Given the description of an element on the screen output the (x, y) to click on. 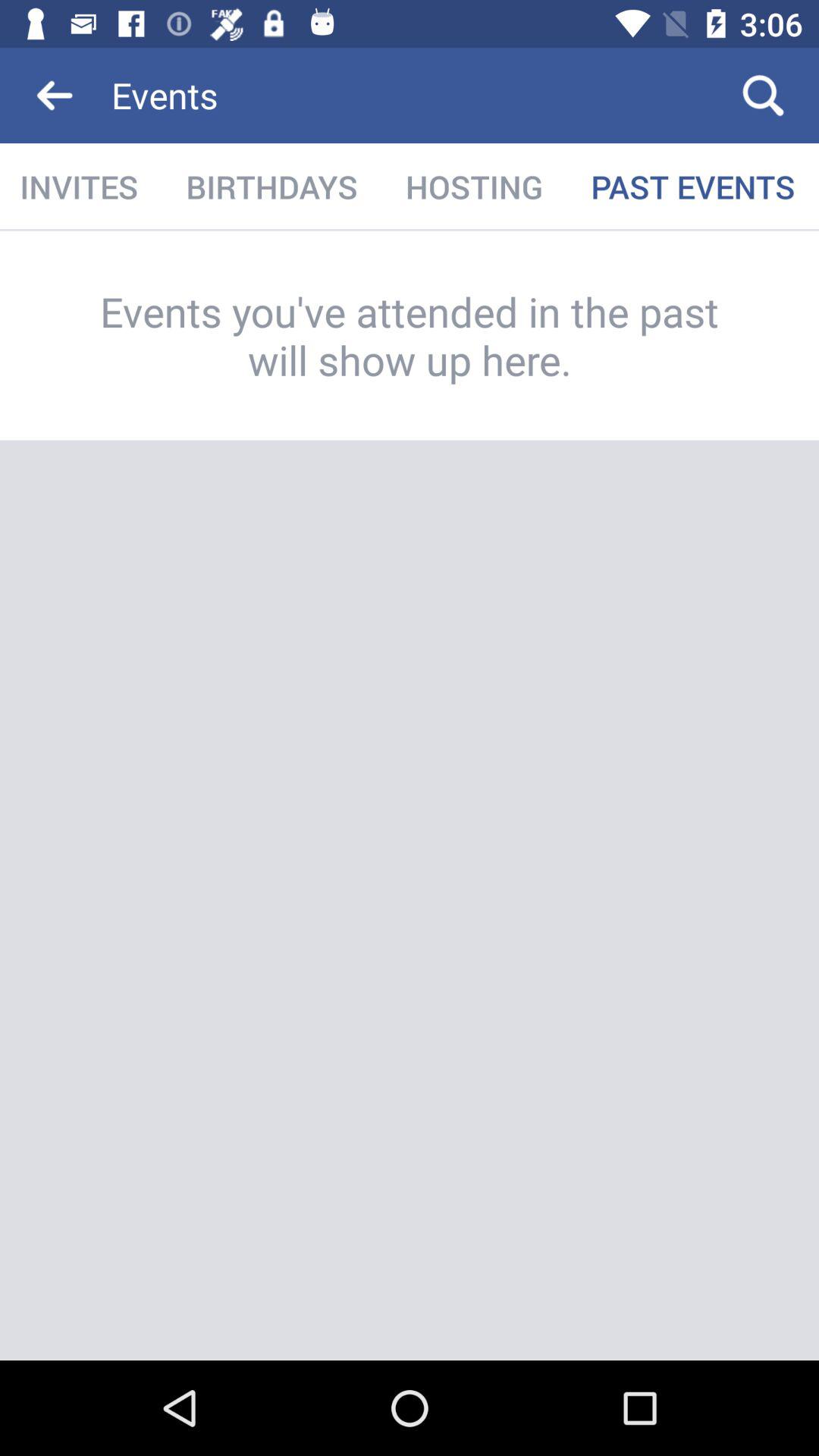
select the icon next to the birthdays item (81, 186)
